Given the description of an element on the screen output the (x, y) to click on. 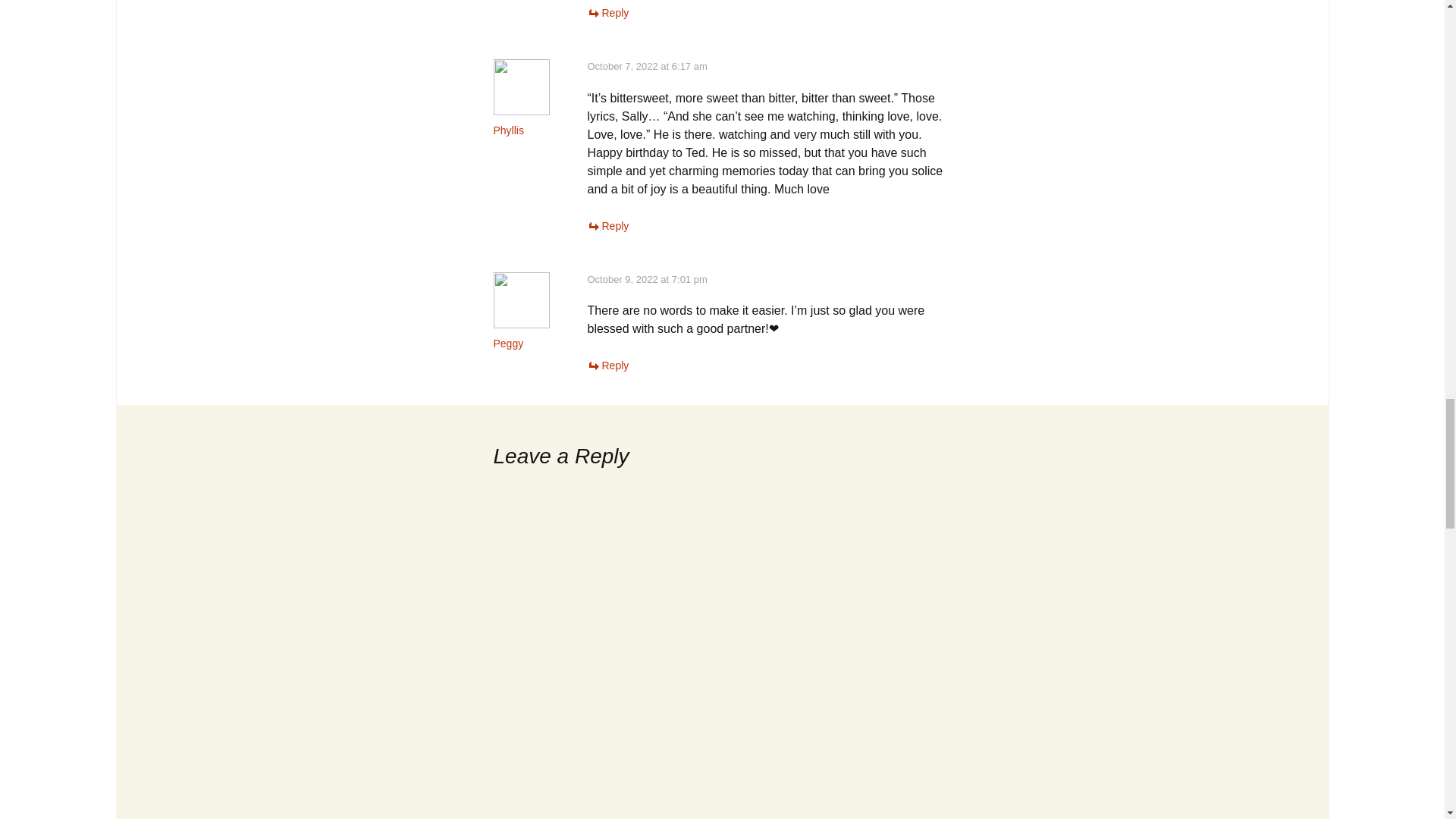
October 7, 2022 at 6:17 am (646, 66)
Reply (607, 365)
October 9, 2022 at 7:01 pm (646, 278)
Reply (607, 12)
Reply (607, 225)
